Given the description of an element on the screen output the (x, y) to click on. 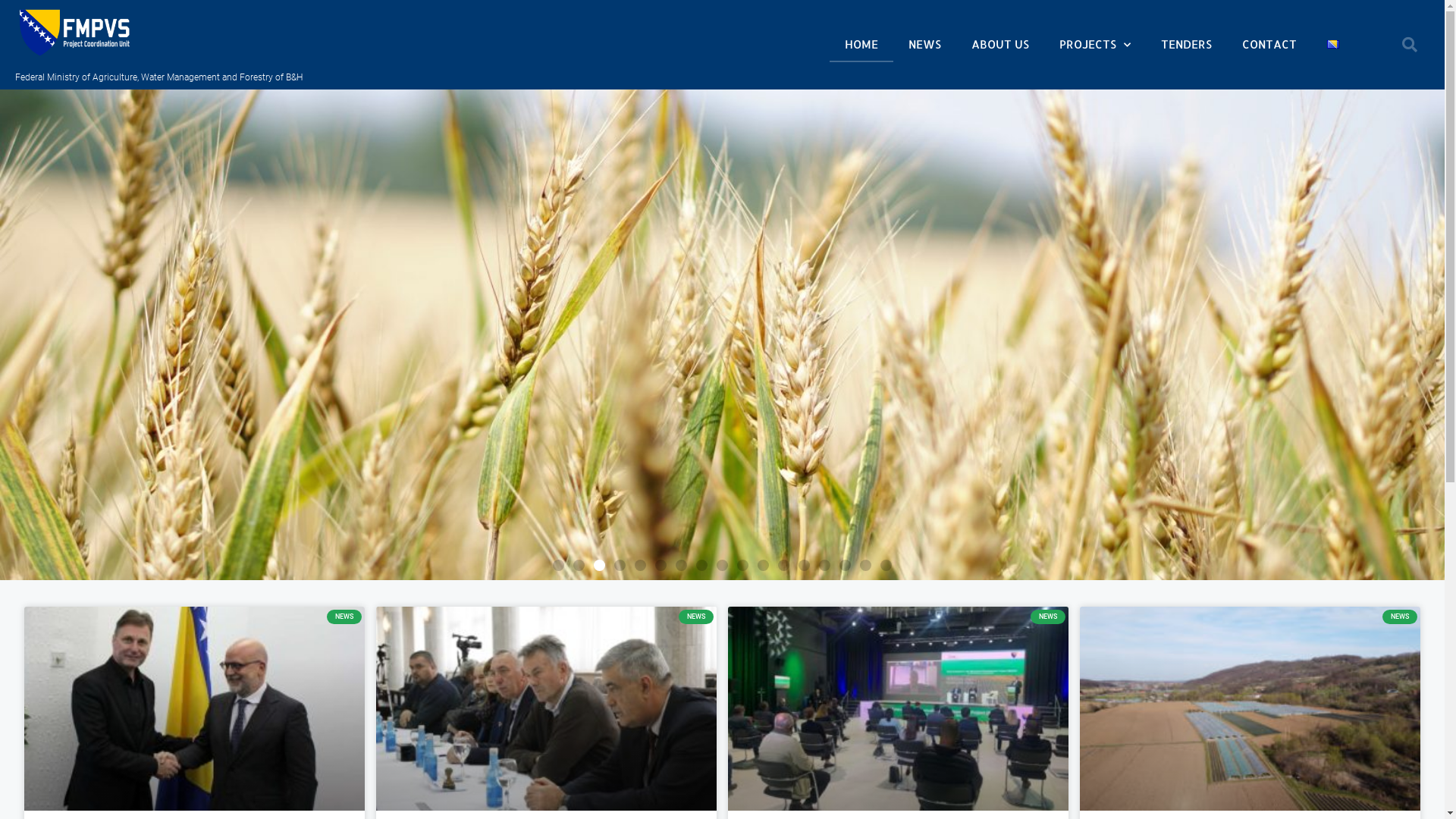
NEWS Element type: text (924, 44)
CONTACT Element type: text (1268, 44)
TENDERS Element type: text (1185, 44)
ABOUT US Element type: text (1000, 44)
PROJECTS Element type: text (1094, 44)
HOME Element type: text (861, 44)
